Given the description of an element on the screen output the (x, y) to click on. 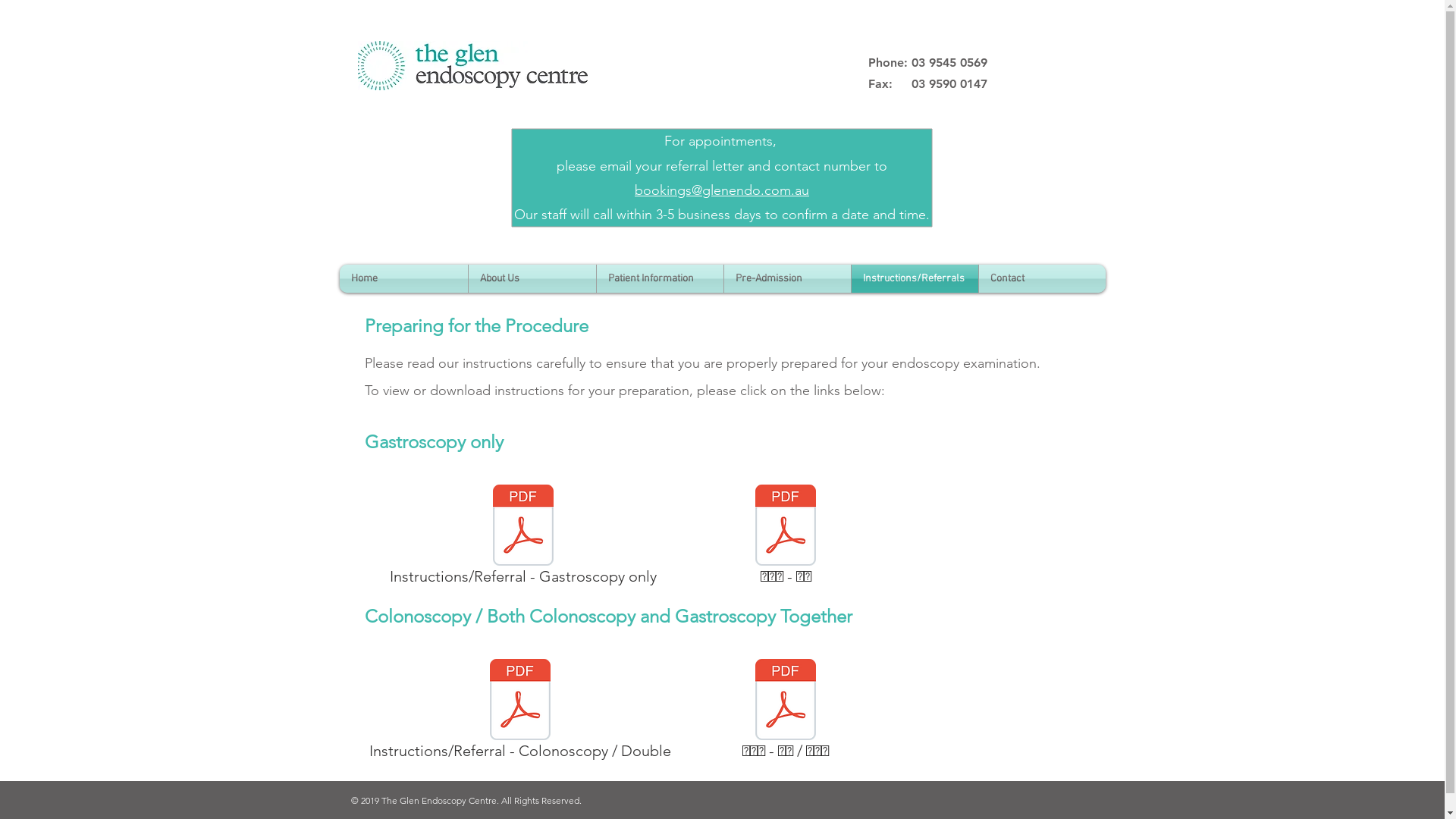
Instructions/Referral - Colonoscopy / Double Element type: text (519, 711)
Pre-Admission Element type: text (786, 278)
Instructions/Referral - Gastroscopy only Element type: text (523, 537)
Home Element type: text (403, 278)
Instructions/Referrals Element type: text (913, 278)
About Us Element type: text (532, 278)
Patient Information Element type: text (659, 278)
Phone: 03 9545 0569 Element type: text (926, 63)
Contact Element type: text (1041, 278)
bookings@glenendo.com.au Element type: text (721, 190)
